Given the description of an element on the screen output the (x, y) to click on. 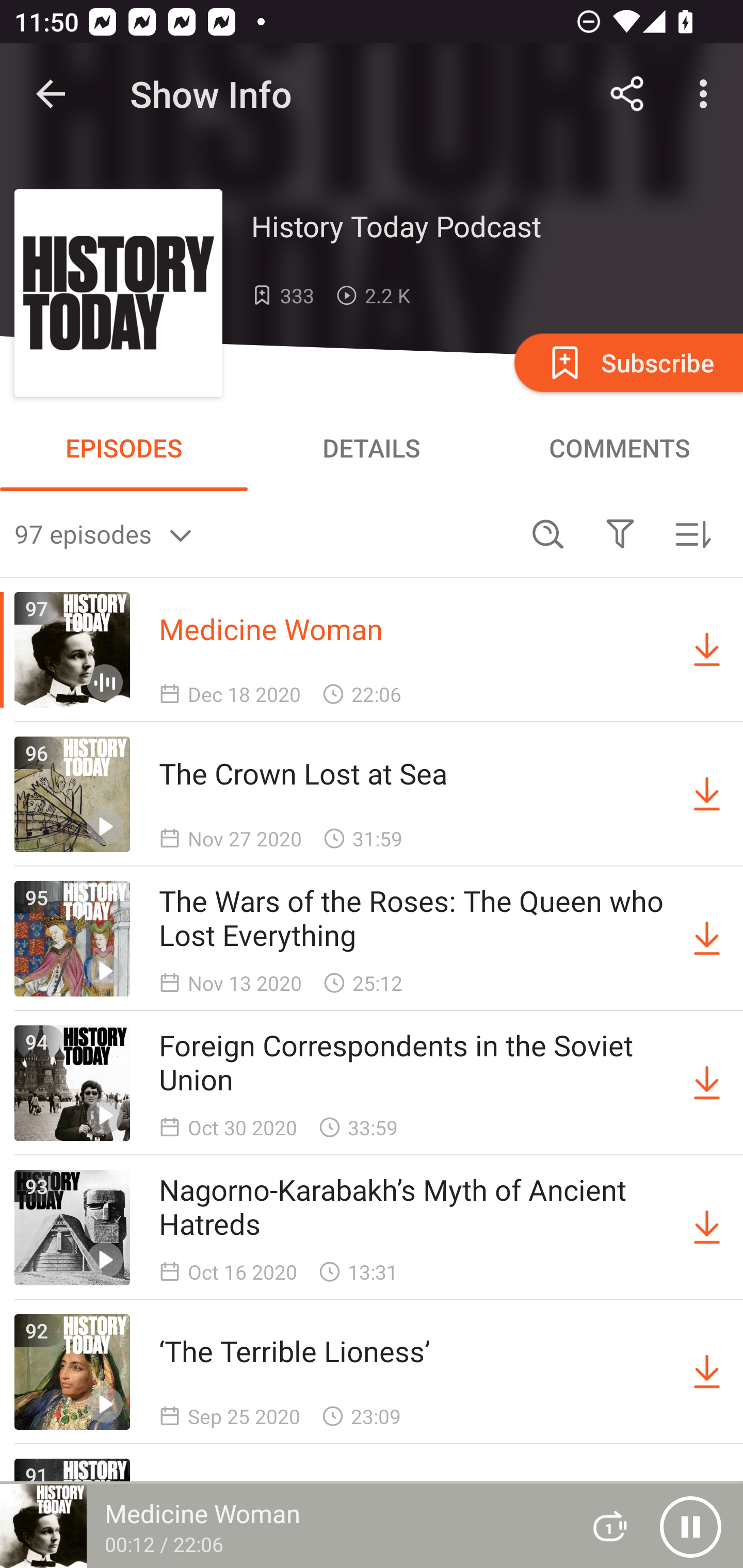
Navigate up (50, 93)
Share (626, 93)
More options (706, 93)
Subscribe (627, 361)
EPISODES (123, 447)
DETAILS (371, 447)
COMMENTS (619, 447)
97 episodes  (262, 533)
 Search (547, 533)
 (619, 533)
 Sorted by newest first (692, 533)
Download (706, 649)
Download (706, 793)
Download (706, 939)
Download (706, 1083)
Download (706, 1227)
Download (706, 1371)
Medicine Woman 00:10 / 22:06 (283, 1525)
Pause (690, 1526)
